Given the description of an element on the screen output the (x, y) to click on. 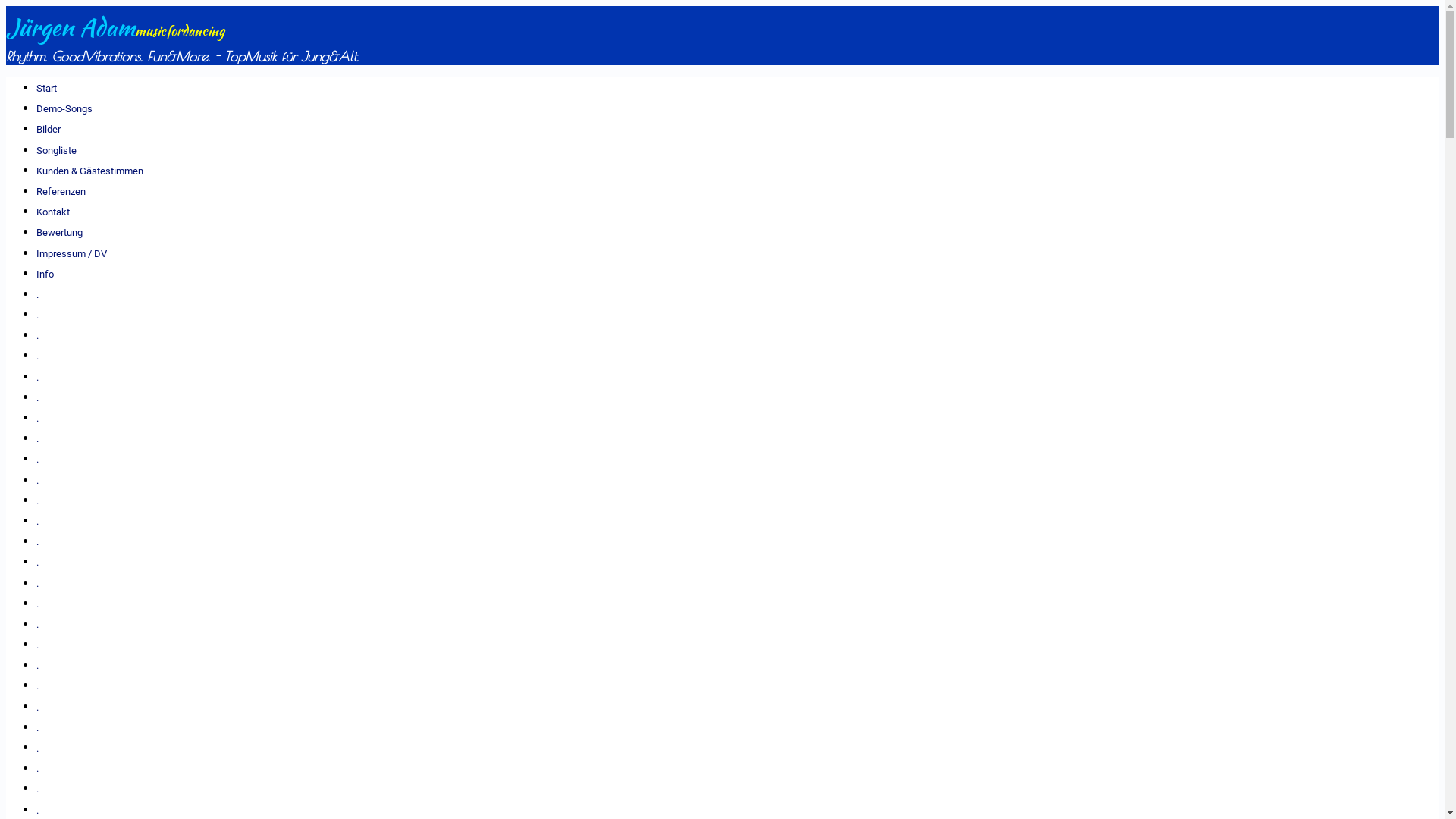
Songliste Element type: text (56, 150)
. Element type: text (37, 376)
Demo-Songs Element type: text (64, 108)
. Element type: text (37, 685)
. Element type: text (37, 294)
. Element type: text (37, 583)
Info Element type: text (44, 273)
. Element type: text (37, 561)
. Element type: text (37, 335)
Referenzen Element type: text (60, 191)
. Element type: text (37, 624)
. Element type: text (37, 747)
. Element type: text (37, 644)
. Element type: text (37, 355)
. Element type: text (37, 706)
. Element type: text (37, 665)
. Element type: text (37, 480)
. Element type: text (37, 417)
. Element type: text (37, 541)
Bilder Element type: text (48, 128)
Start Element type: text (46, 88)
. Element type: text (37, 397)
Impressum / DV Element type: text (71, 252)
. Element type: text (37, 438)
. Element type: text (37, 809)
. Element type: text (37, 788)
Bewertung Element type: text (59, 232)
. Element type: text (37, 768)
. Element type: text (37, 500)
. Element type: text (37, 727)
. Element type: text (37, 603)
. Element type: text (37, 314)
Kontakt Element type: text (52, 211)
. Element type: text (37, 521)
. Element type: text (37, 458)
